Given the description of an element on the screen output the (x, y) to click on. 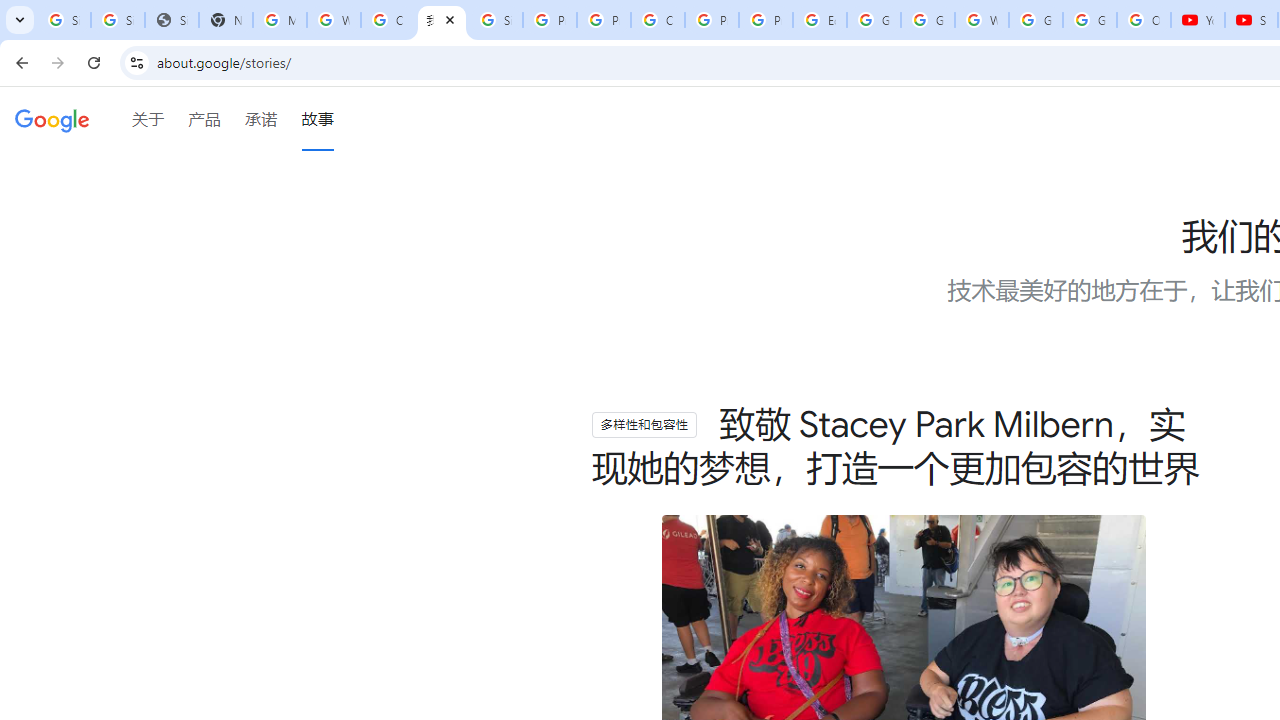
YouTube (1197, 20)
Sign in - Google Accounts (495, 20)
Google Slides: Sign-in (874, 20)
Sign In - USA TODAY (171, 20)
Create your Google Account (387, 20)
New Tab (225, 20)
Google Account (1089, 20)
